Given the description of an element on the screen output the (x, y) to click on. 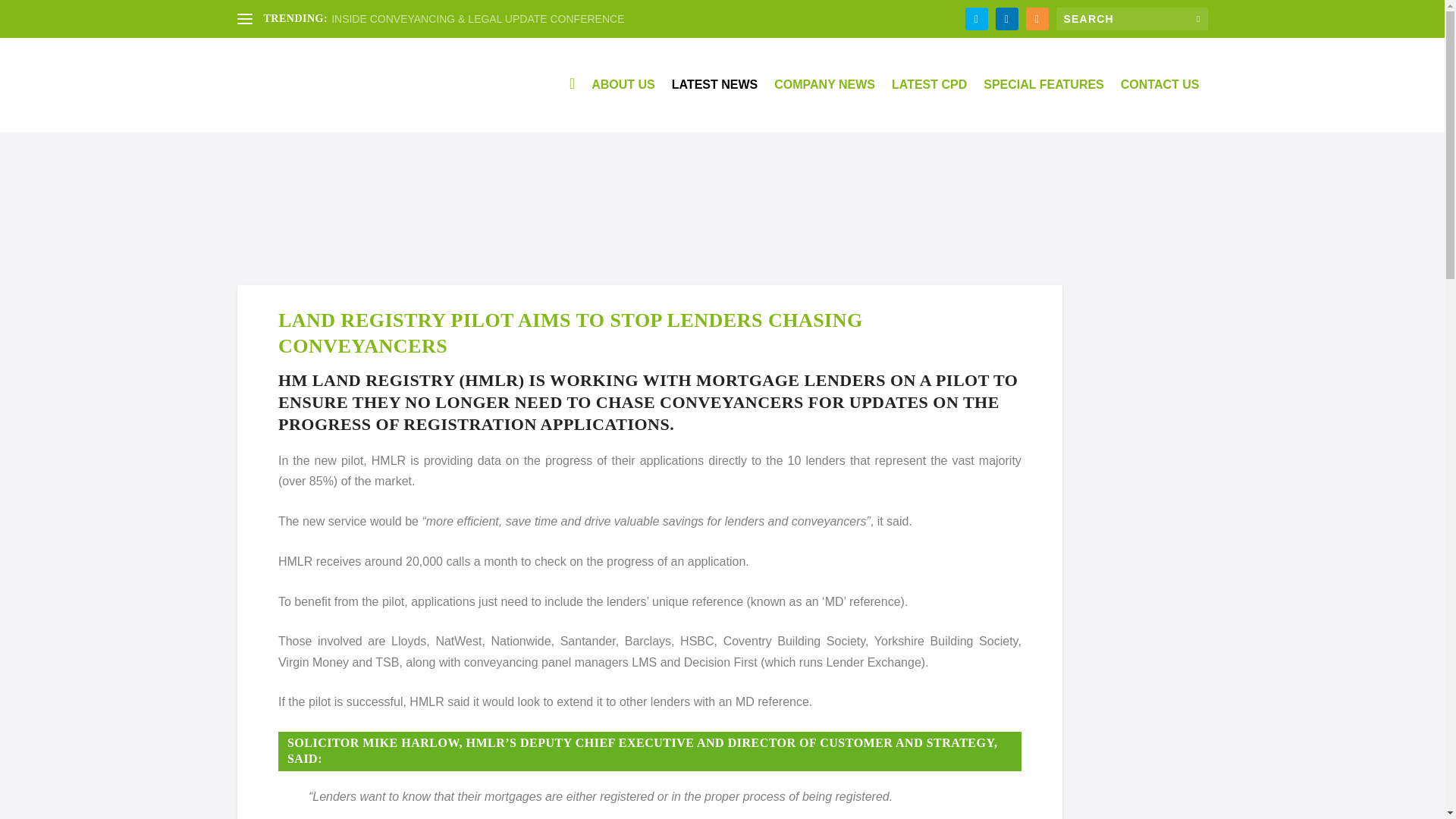
SPECIAL FEATURES (1043, 104)
COMPANY NEWS (824, 104)
LATEST NEWS (714, 104)
Search for: (1131, 18)
CONTACT US (1160, 104)
LATEST CPD (928, 104)
ABOUT US (623, 104)
